Given the description of an element on the screen output the (x, y) to click on. 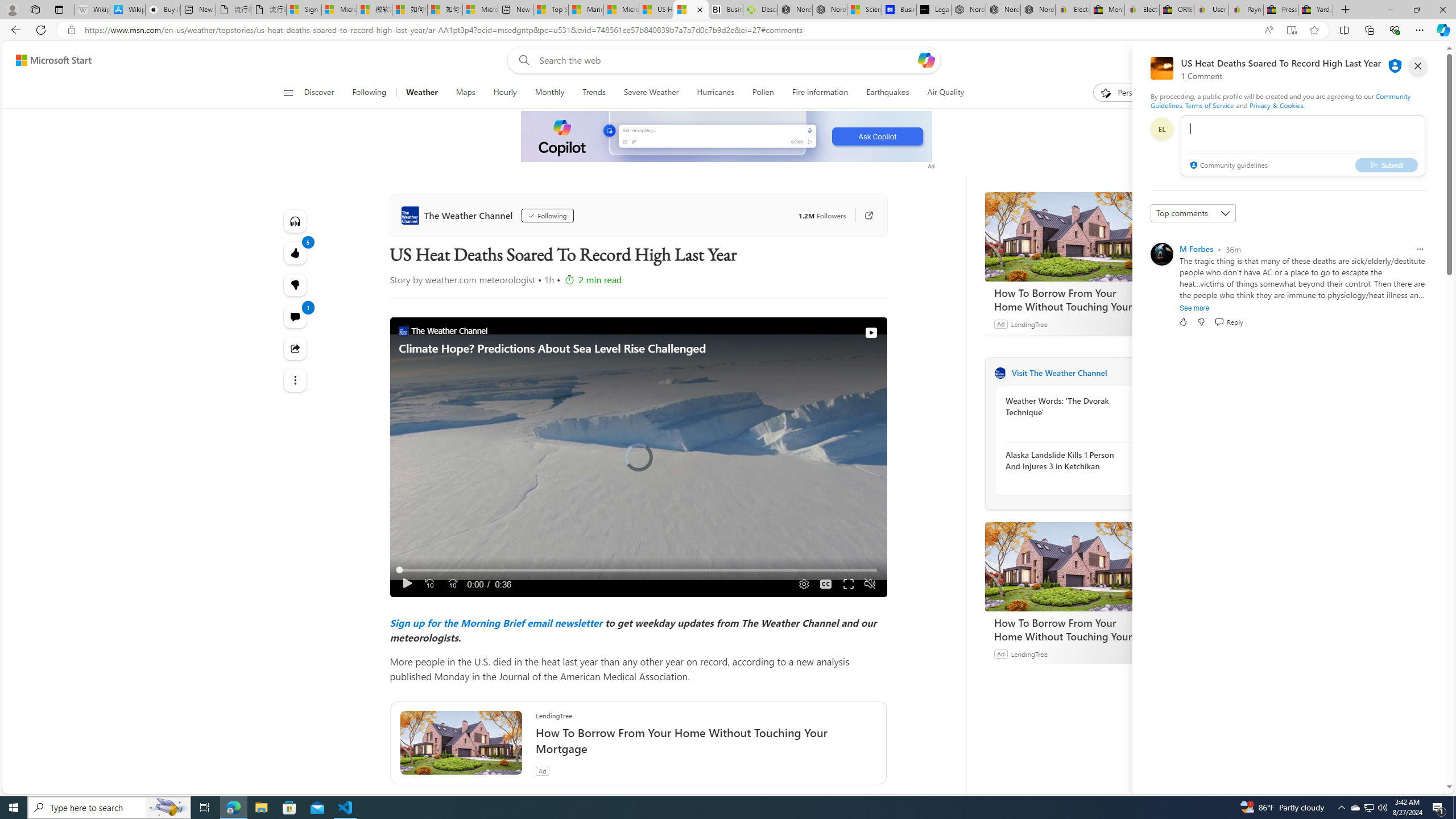
Skip to footer (46, 59)
5 (295, 284)
Following (370, 92)
Report comment (1419, 249)
5 Like (295, 252)
New Tab (1346, 9)
Close (1442, 9)
comment-box (1302, 145)
Enter Immersive Reader (F9) (1291, 29)
Alaska Landslide Kills 1 Person And Injures 3 in Ketchikan (1066, 459)
Trends (593, 92)
Weather (422, 92)
